Given the description of an element on the screen output the (x, y) to click on. 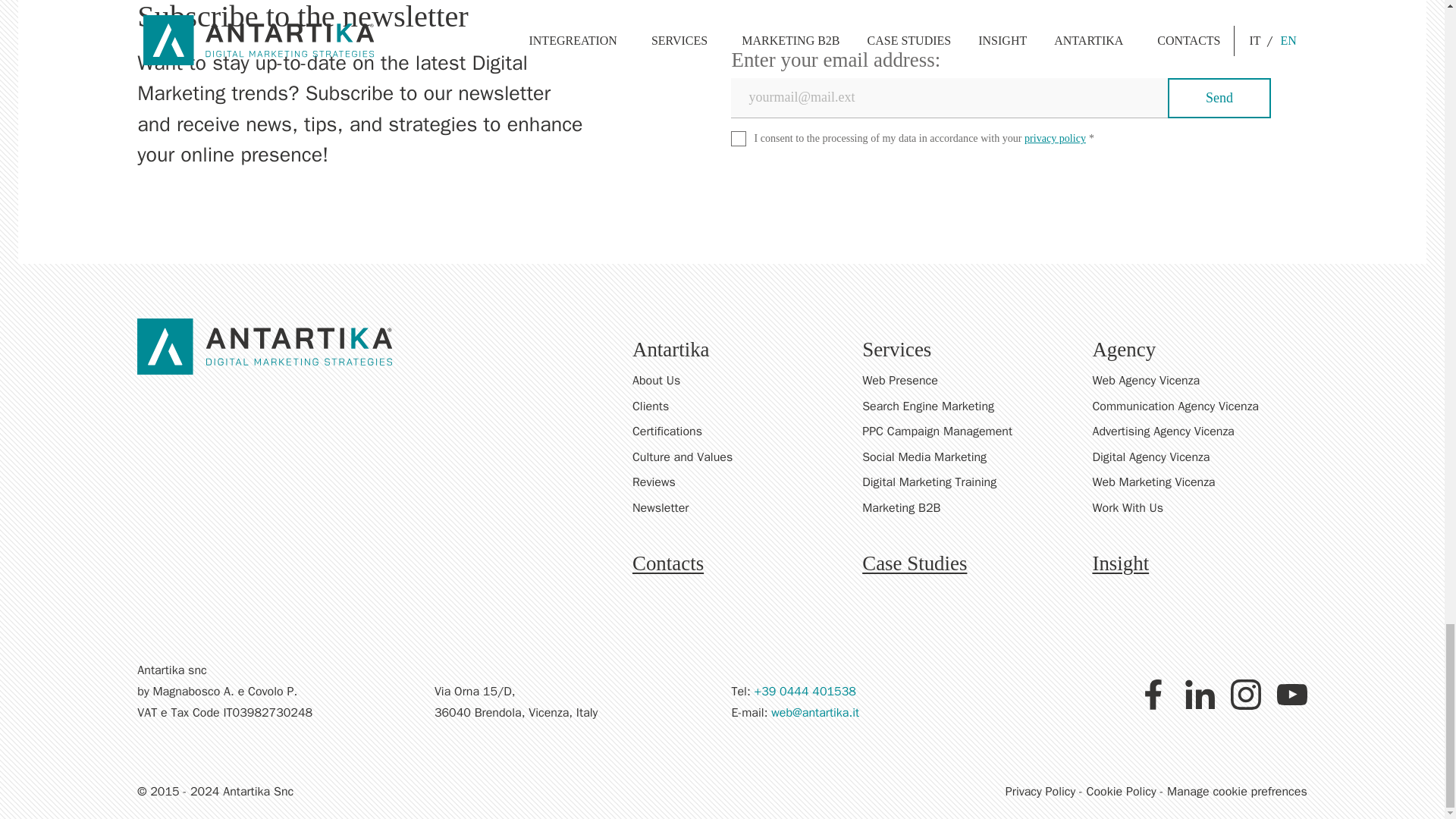
About Us (969, 380)
Web Presence (969, 380)
Privacy Policy (1055, 137)
Digital Marketing Training (969, 483)
Social Media Marketing (969, 457)
Web Agency Vicenza (1199, 380)
Digital Agency Vicenza (1199, 457)
Clients (969, 406)
Search Engine Marketing (969, 406)
Certifications (969, 431)
PPC Campaign Management (969, 431)
Communication Agency Vicenza (1199, 406)
Newsletter (969, 507)
Reviews (969, 483)
Send (1219, 97)
